Given the description of an element on the screen output the (x, y) to click on. 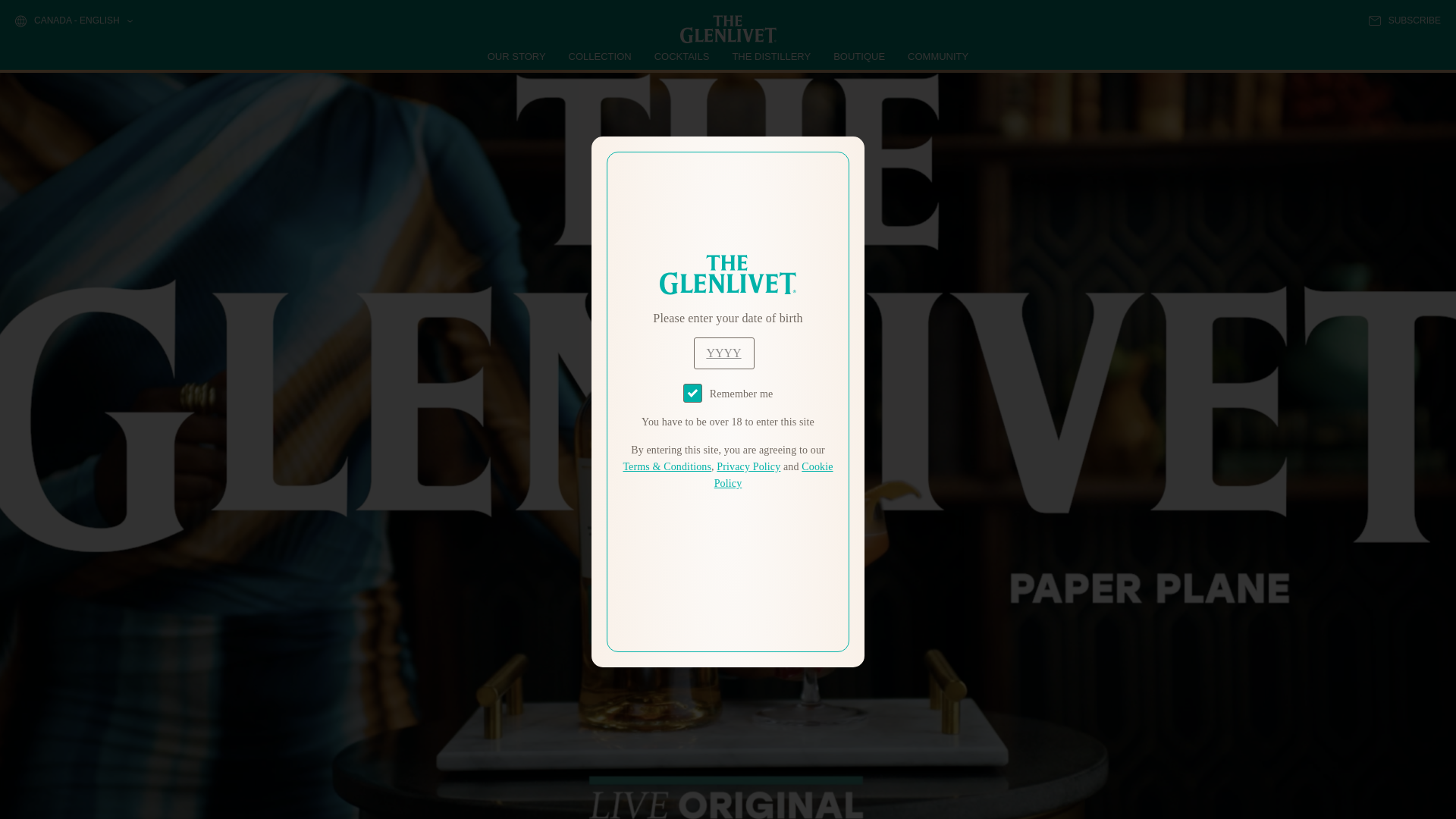
CANADA - ENGLISH (73, 21)
Privacy Policy (748, 466)
Cookie Policy (773, 474)
year (723, 353)
COLLECTION (600, 56)
COCKTAILS (681, 56)
SUBSCRIBE (1404, 20)
THE DISTILLERY (771, 56)
OUR STORY (516, 56)
COMMUNITY (937, 56)
